Given the description of an element on the screen output the (x, y) to click on. 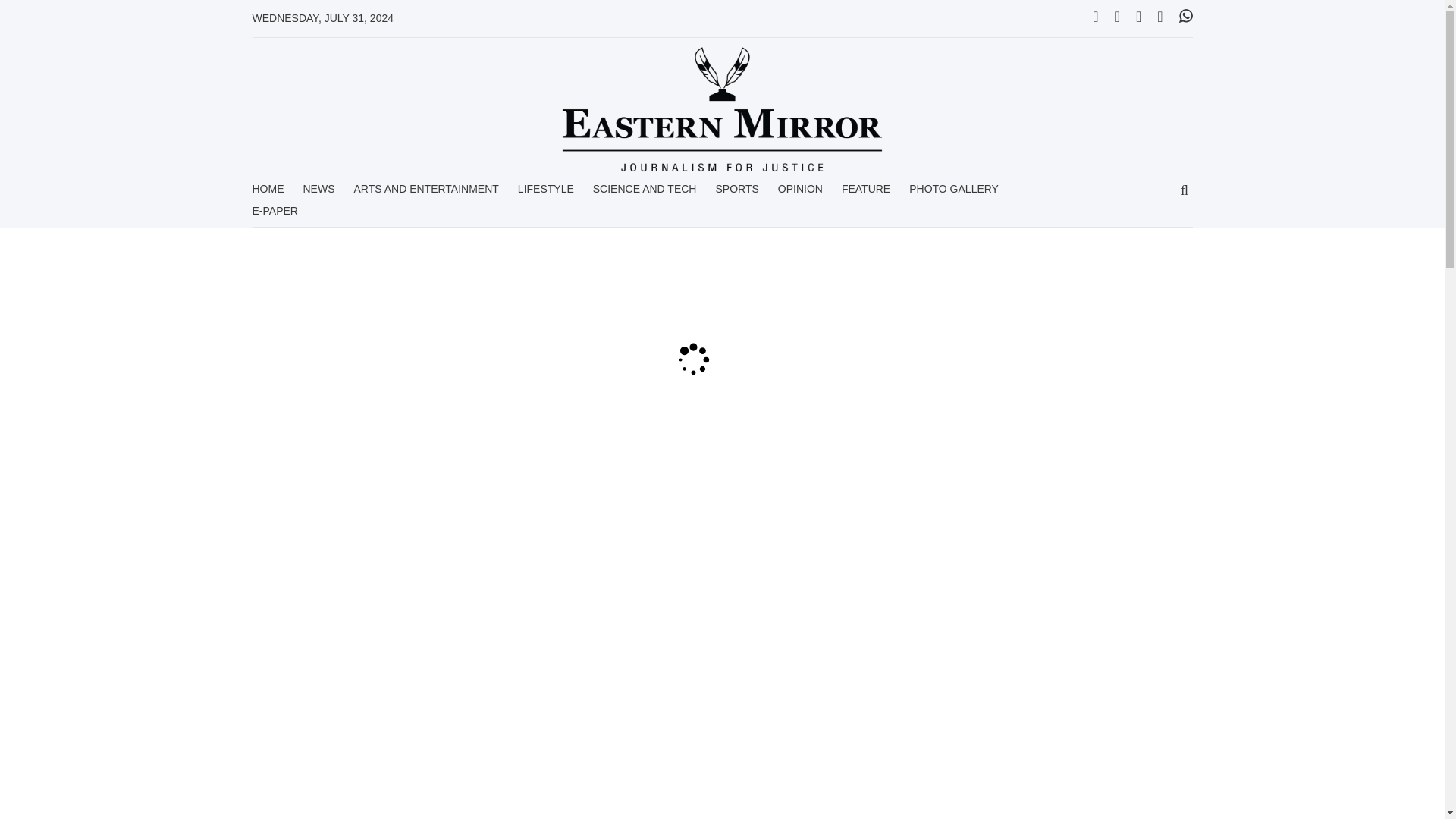
NEWS (318, 194)
GO (1184, 191)
LIFESTYLE (545, 194)
Eastern Mirror (722, 109)
HOME (267, 194)
GO (1184, 191)
ARTS AND ENTERTAINMENT (425, 194)
